Given the description of an element on the screen output the (x, y) to click on. 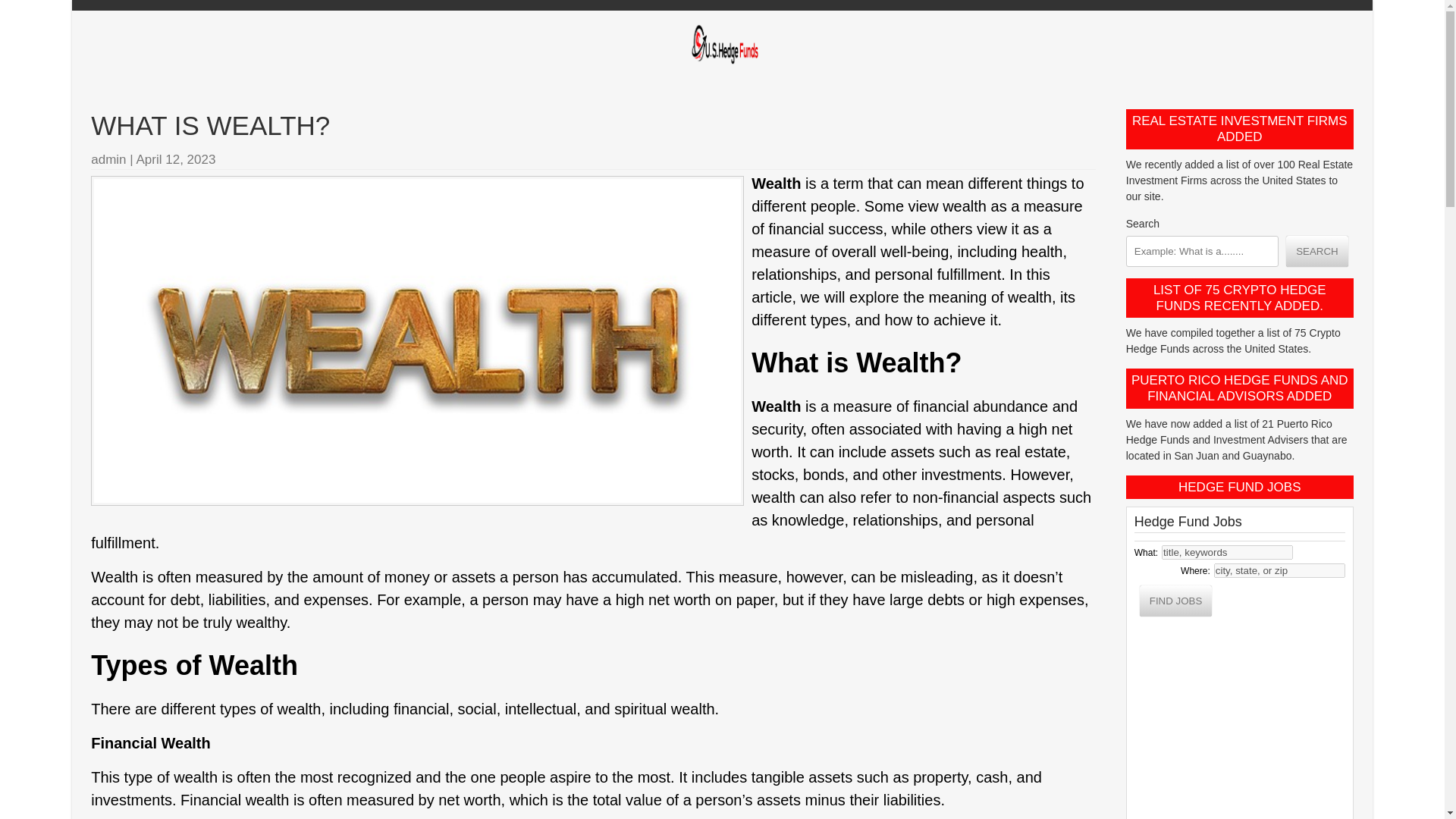
SEARCH (1316, 250)
Find Jobs (1176, 600)
Find Jobs (1176, 600)
Posts by admin (107, 159)
admin (107, 159)
city, state, or zip (1279, 570)
April 12, 2023 (175, 159)
title, keywords (1226, 552)
